Given the description of an element on the screen output the (x, y) to click on. 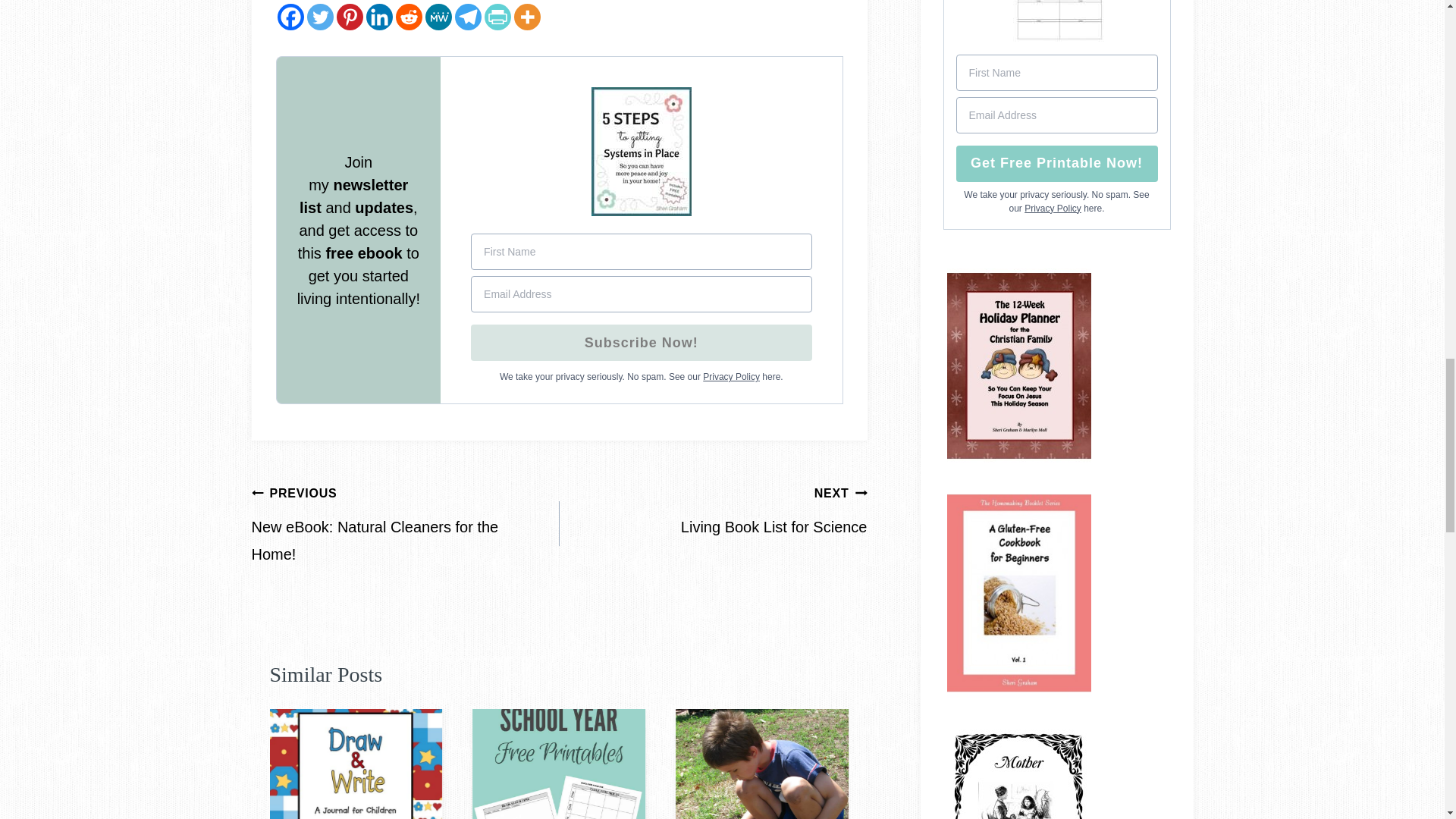
Linkedin (378, 17)
Facebook (291, 17)
MeWe (438, 17)
Pinterest (349, 17)
Reddit (409, 17)
Twitter (319, 17)
